Given the description of an element on the screen output the (x, y) to click on. 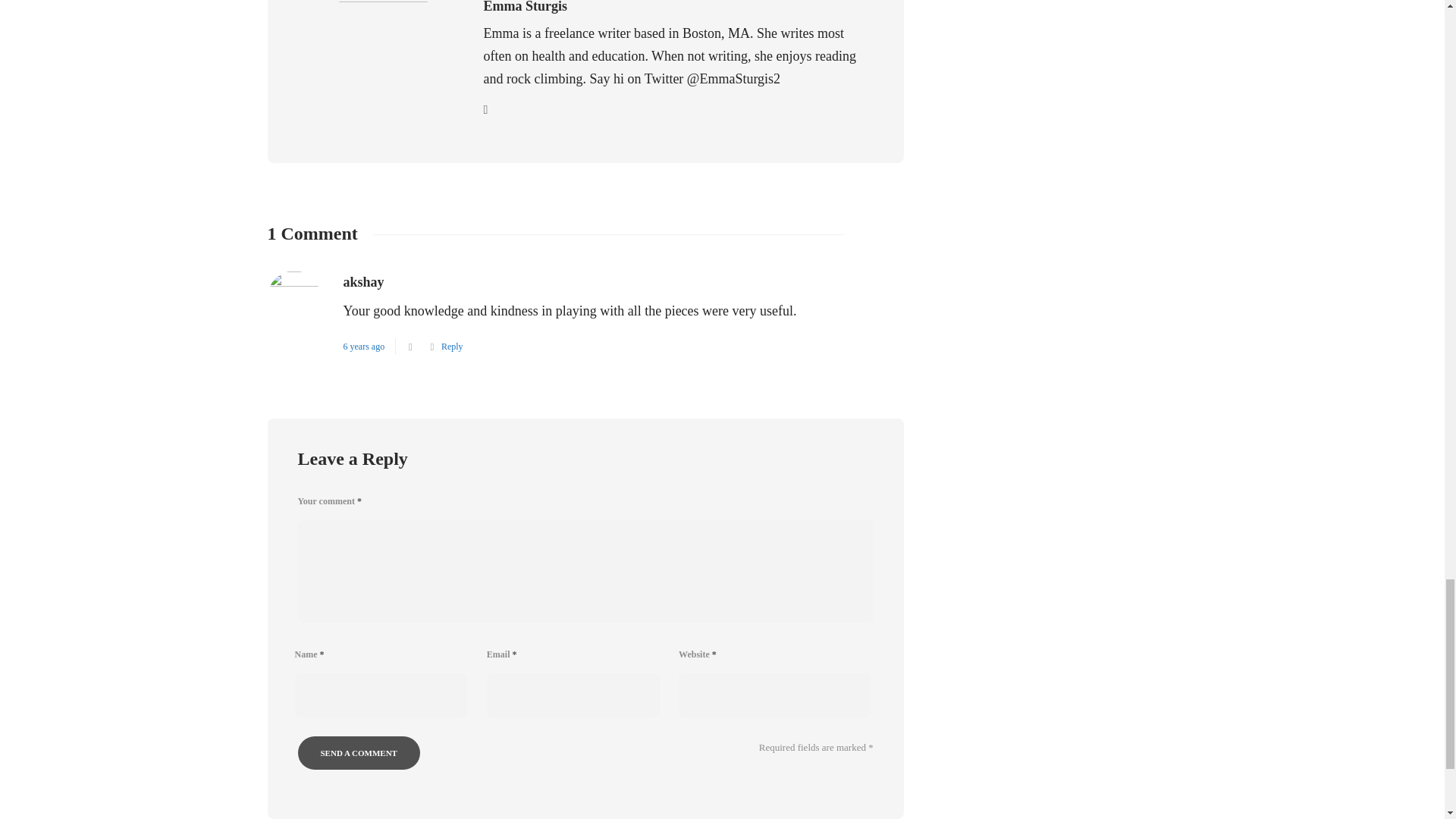
Send a comment (358, 752)
